Given the description of an element on the screen output the (x, y) to click on. 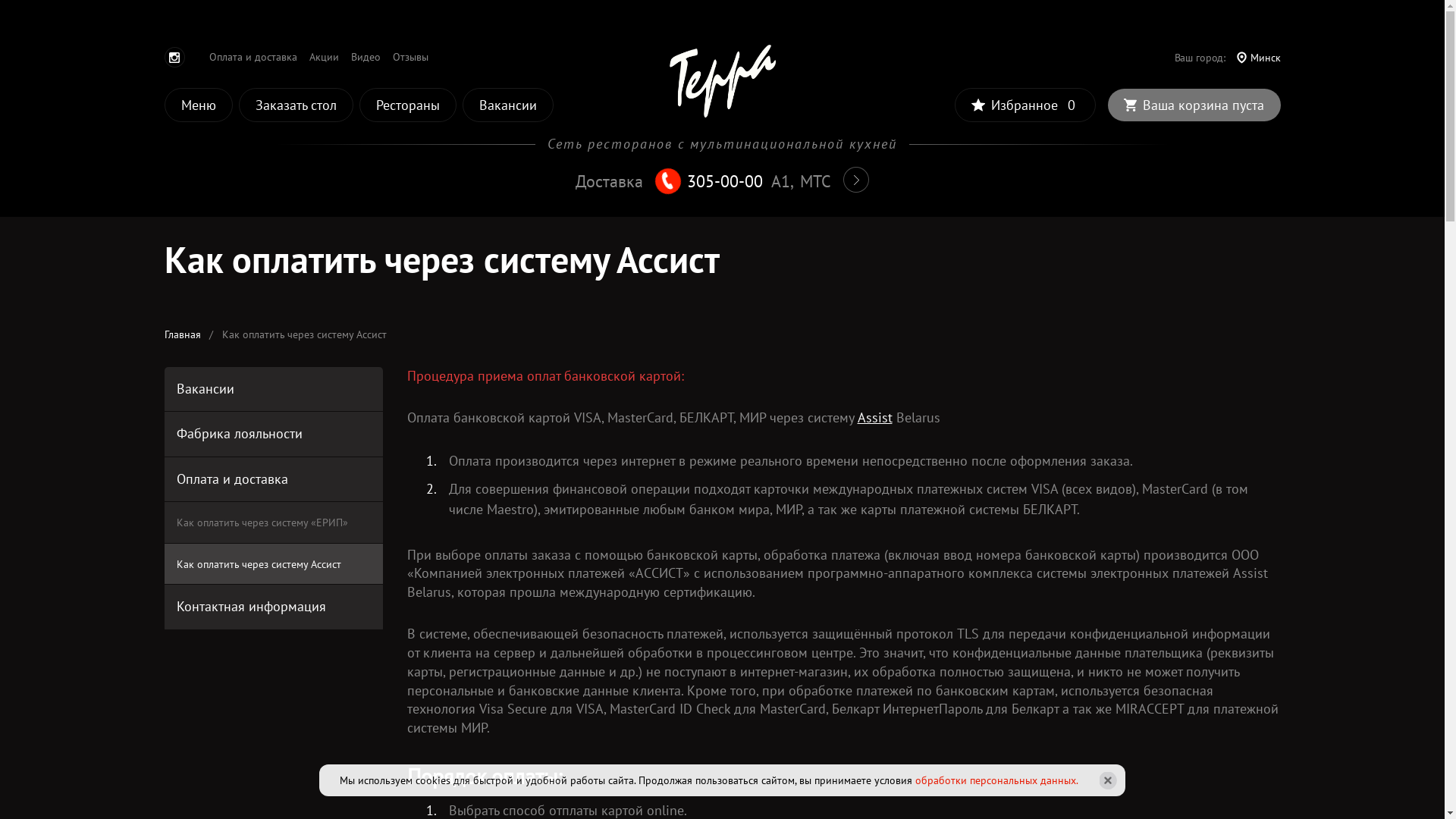
305-00-00 Element type: text (724, 180)
Assist Element type: text (873, 417)
